Given the description of an element on the screen output the (x, y) to click on. 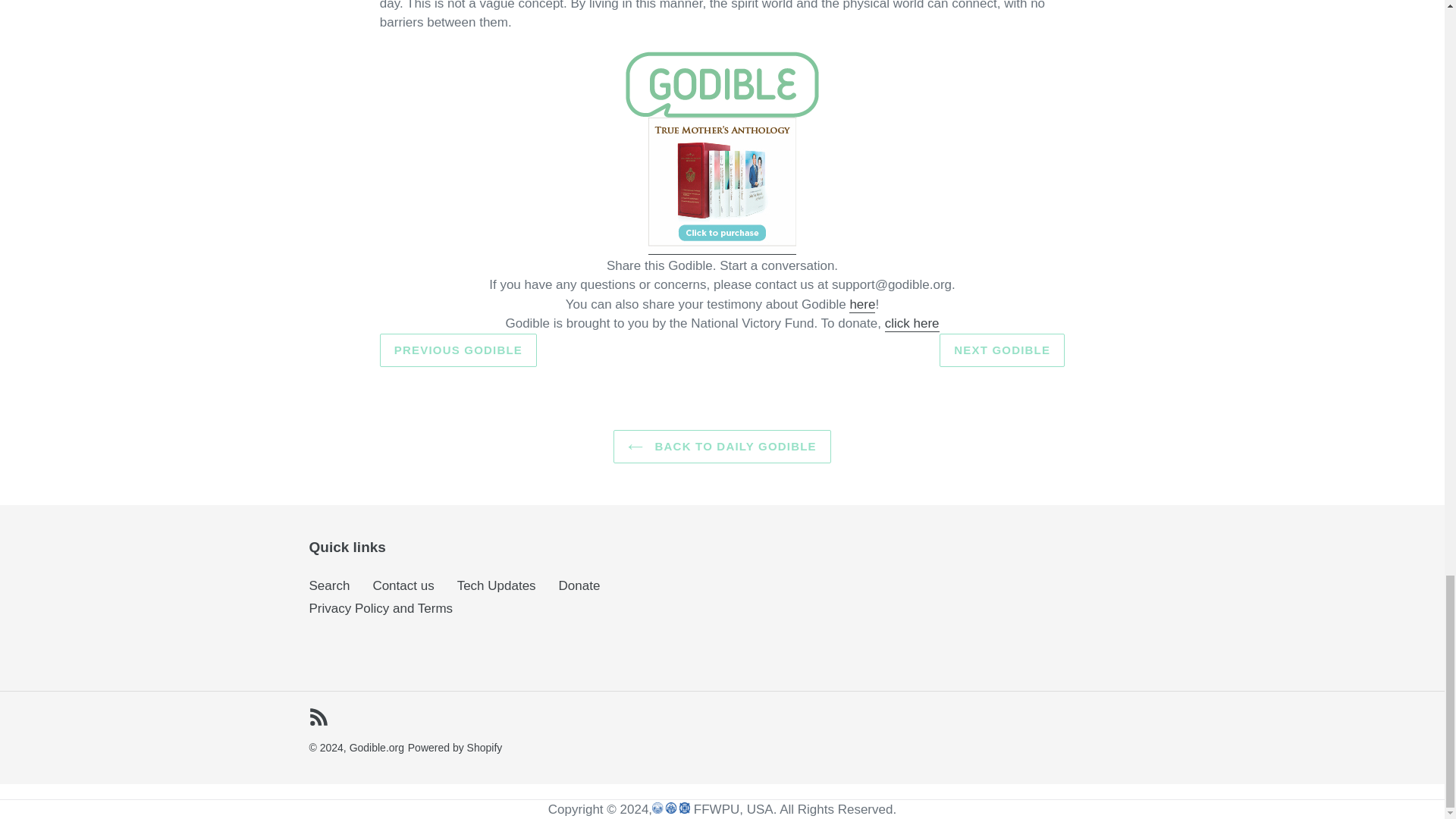
click here (912, 324)
PREVIOUS GODIBLE (458, 350)
BACK TO DAILY GODIBLE (721, 446)
NEXT GODIBLE (1001, 350)
here (861, 304)
